Given the description of an element on the screen output the (x, y) to click on. 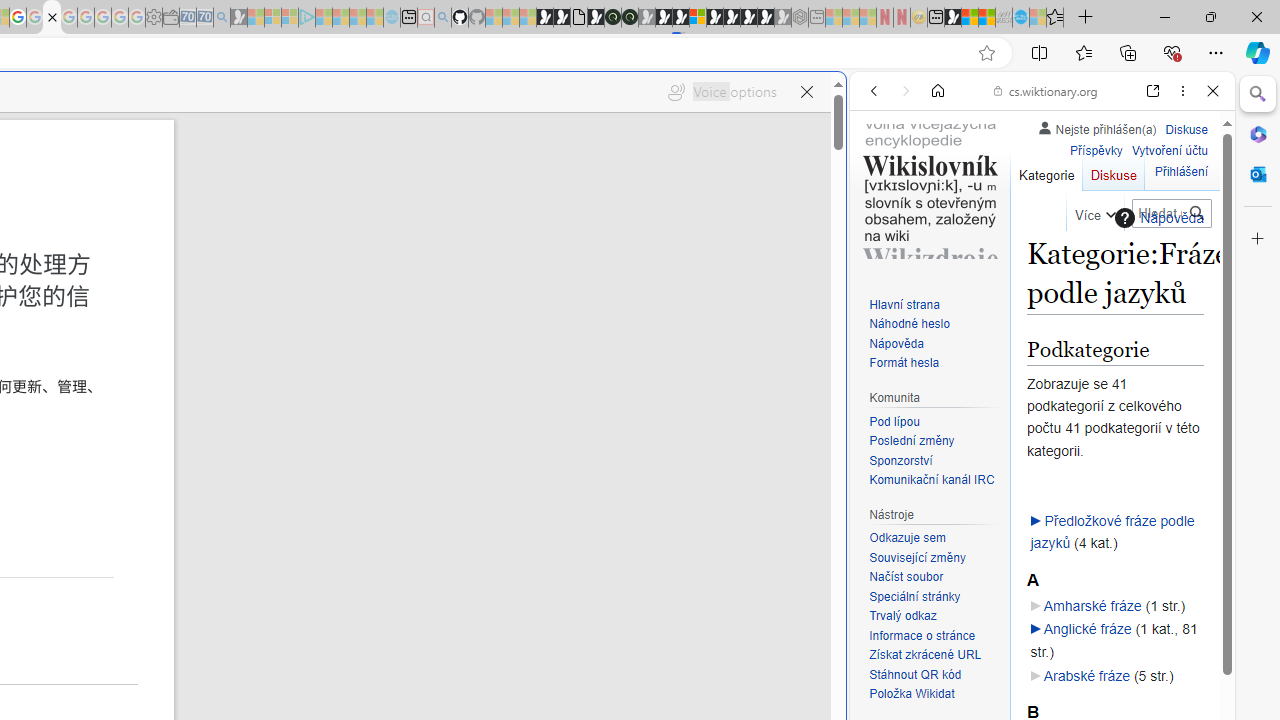
Kategorie (1046, 170)
Search Filter, WEB (882, 228)
Voice options (721, 92)
Search Filter, VIDEOS (1006, 228)
